Given the description of an element on the screen output the (x, y) to click on. 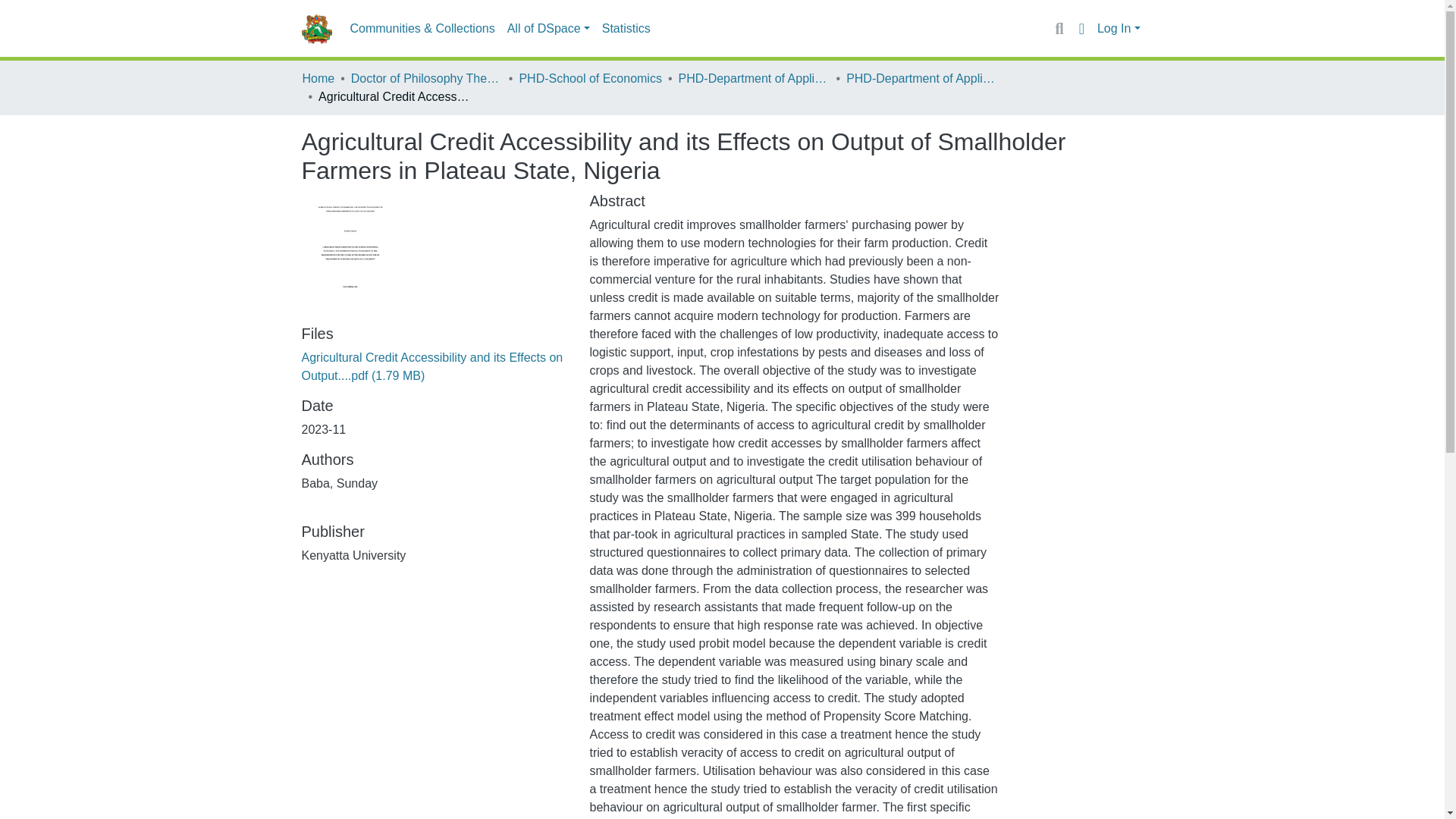
PHD-Department of Applied Economics (753, 78)
Statistics (625, 28)
Log In (1118, 28)
Home (317, 78)
Statistics (625, 28)
PHD-Department of Applied Economics (921, 78)
Search (1058, 28)
All of DSpace (547, 28)
PHD-School of Economics (590, 78)
Language switch (1081, 28)
